Given the description of an element on the screen output the (x, y) to click on. 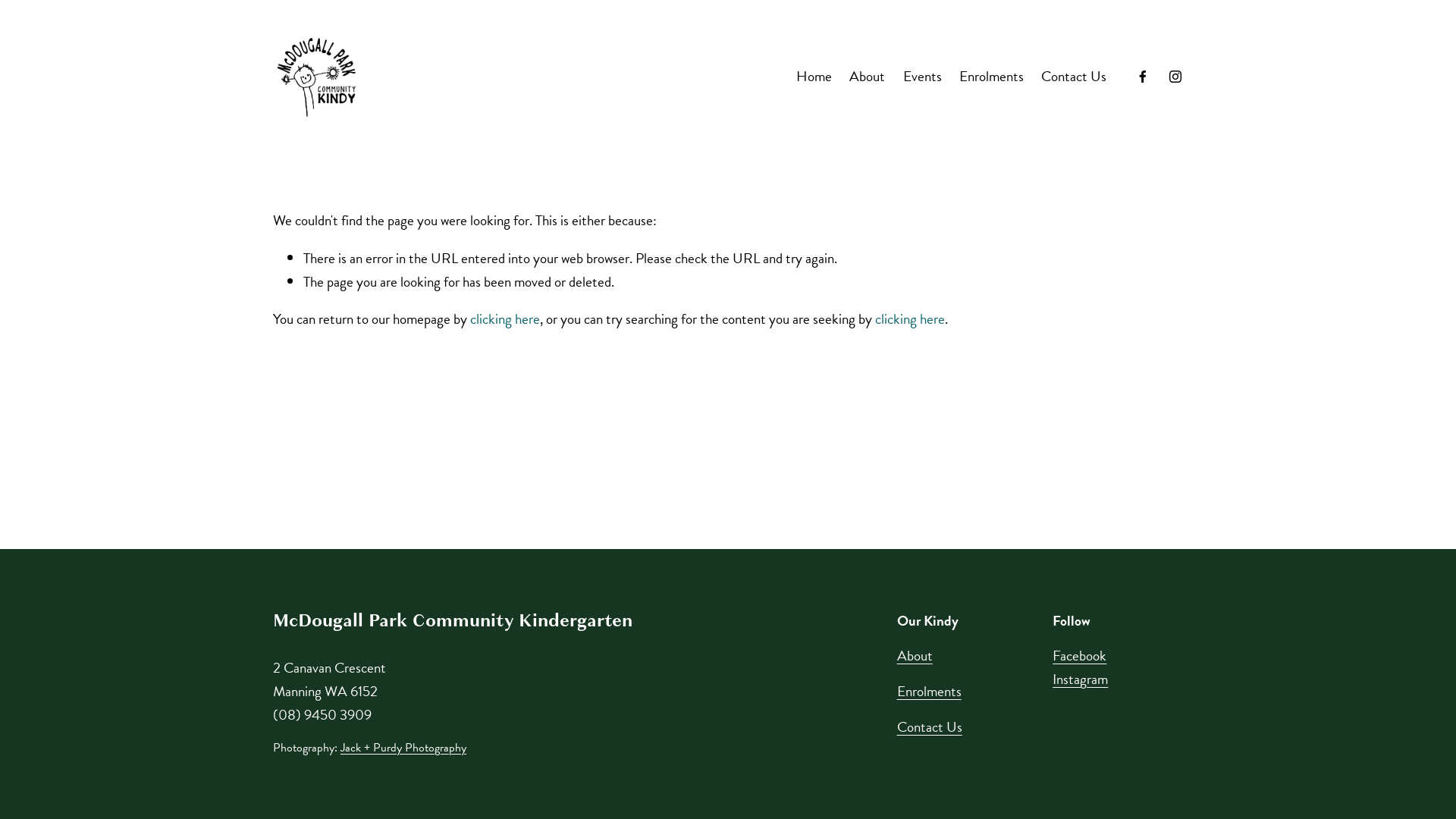
Contact Us Element type: text (1073, 76)
Enrolments Element type: text (991, 76)
Events Element type: text (922, 76)
Instagram Element type: text (1079, 679)
Contact Us Element type: text (929, 727)
About Element type: text (914, 656)
clicking here Element type: text (909, 318)
clicking here Element type: text (504, 318)
Jack + Purdy Photography Element type: text (403, 748)
Home Element type: text (813, 76)
Enrolments Element type: text (929, 691)
About Element type: text (866, 76)
Facebook Element type: text (1079, 656)
